Given the description of an element on the screen output the (x, y) to click on. 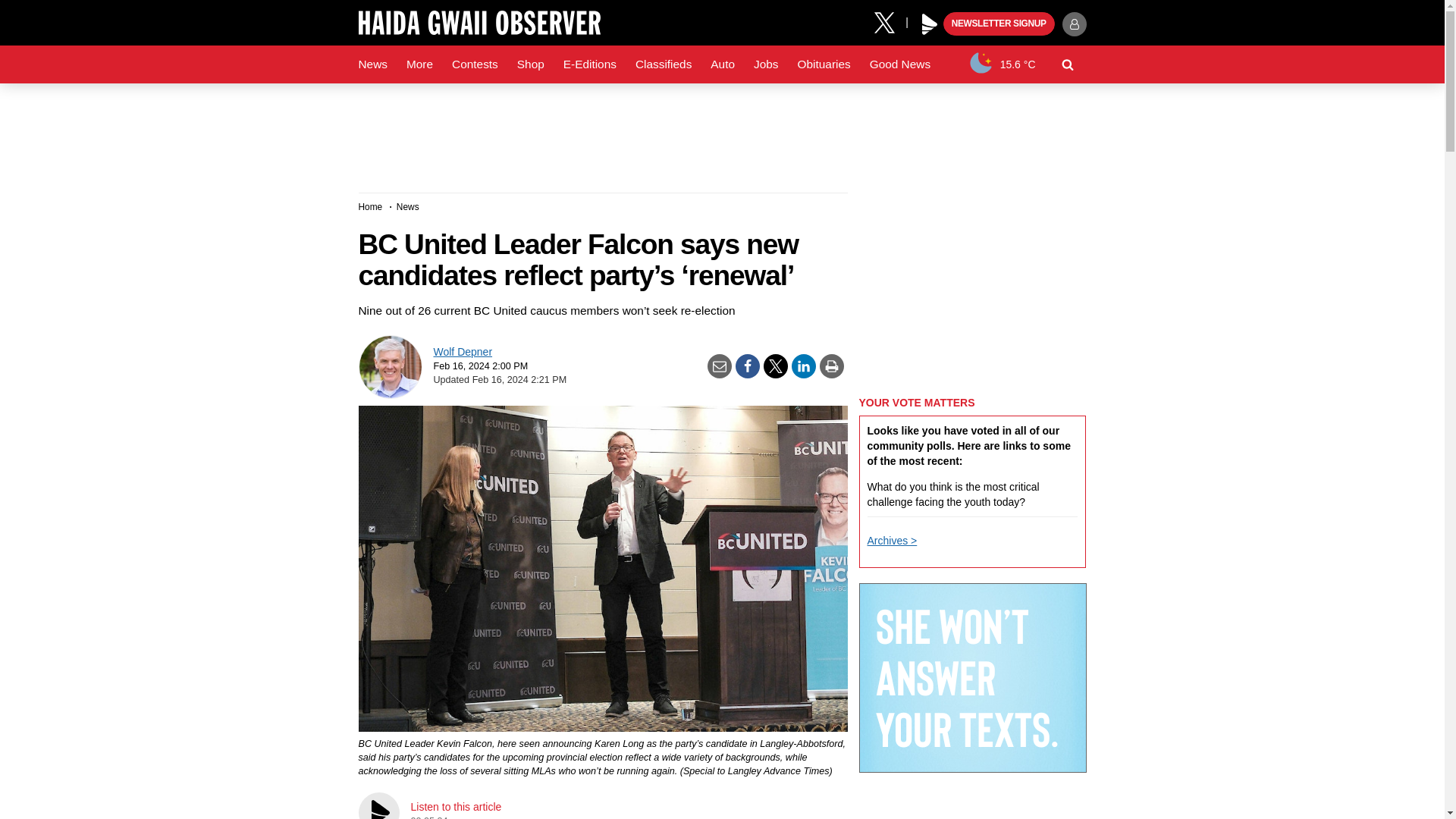
NEWSLETTER SIGNUP (998, 24)
News (372, 64)
Black Press Media (929, 24)
3rd party ad content (721, 131)
X (889, 21)
Play (929, 24)
